Given the description of an element on the screen output the (x, y) to click on. 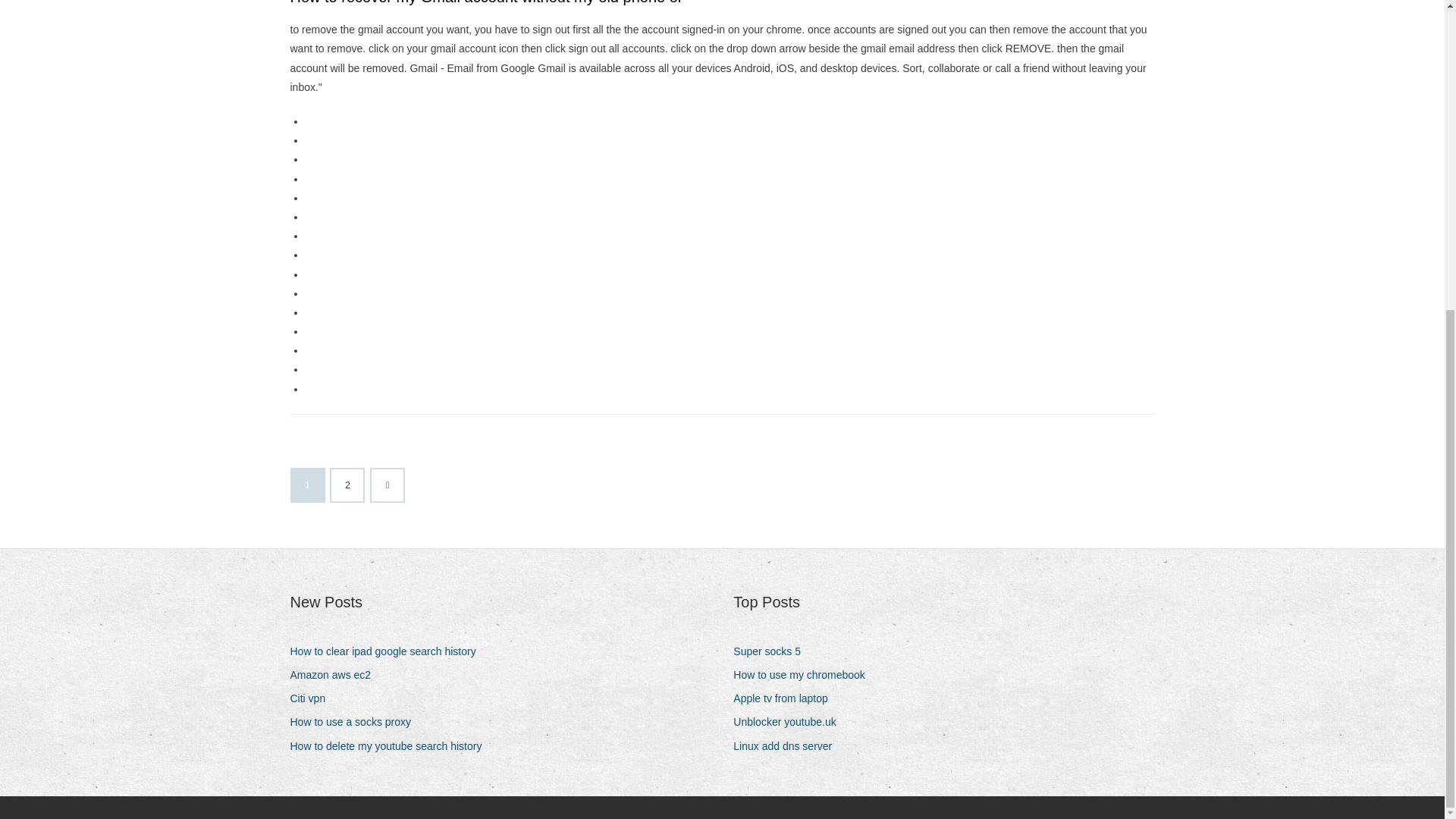
Linux add dns server (788, 746)
2 (346, 485)
Super socks 5 (772, 651)
Apple tv from laptop (786, 698)
How to delete my youtube search history (391, 746)
Citi vpn (312, 698)
How to use a socks proxy (355, 721)
Amazon aws ec2 (335, 675)
Unblocker youtube.uk (790, 721)
How to clear ipad google search history (387, 651)
How to use my chromebook (804, 675)
